Given the description of an element on the screen output the (x, y) to click on. 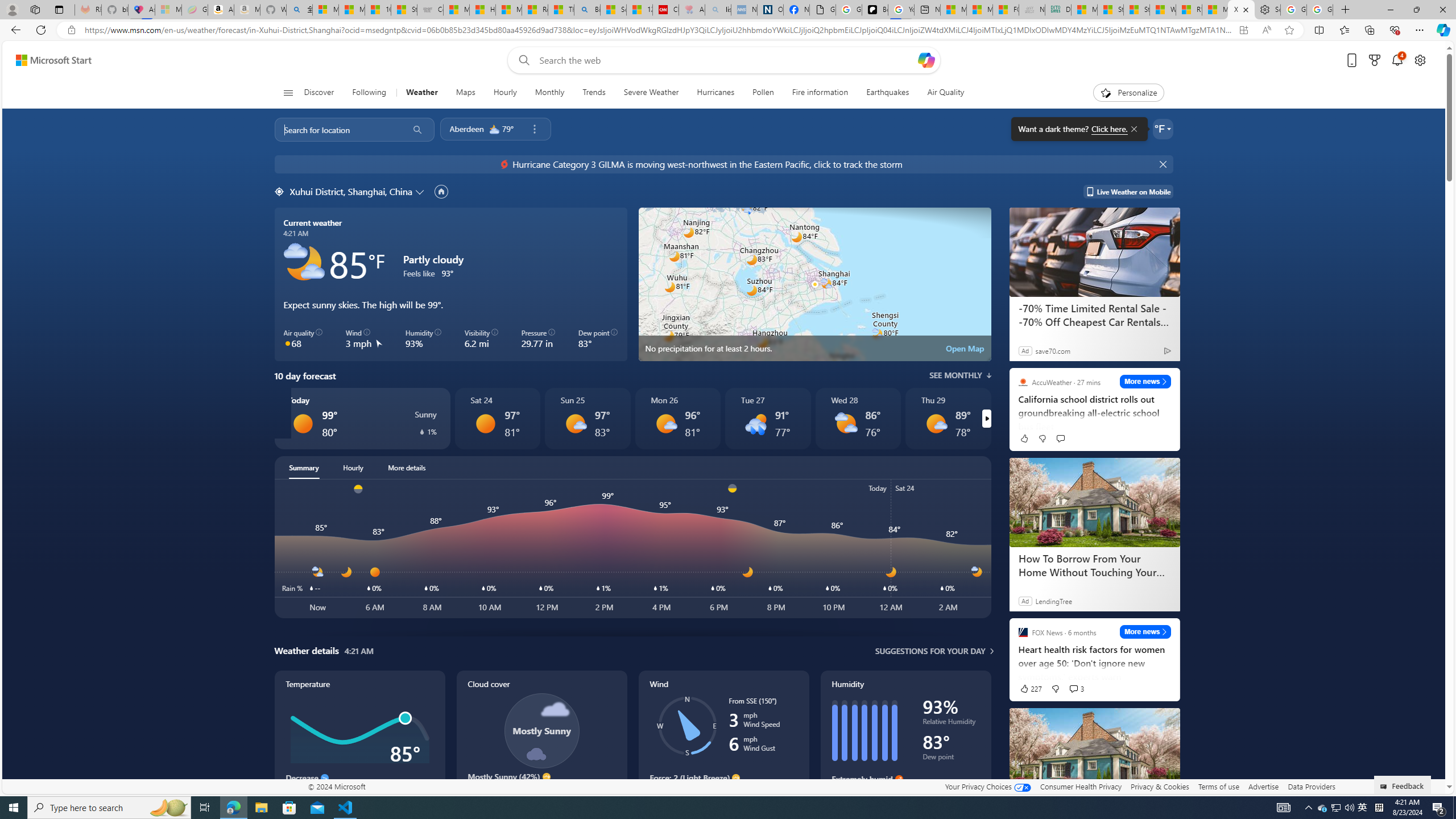
Trends (593, 92)
Humidity 93% (423, 338)
Google Analytics Opt-out Browser Add-on Download Page (822, 9)
Set as primary location (440, 191)
Relative Humidity (951, 723)
Humidity (905, 741)
R******* | Trusted Community Engagement and Contributions (1188, 9)
